Given the description of an element on the screen output the (x, y) to click on. 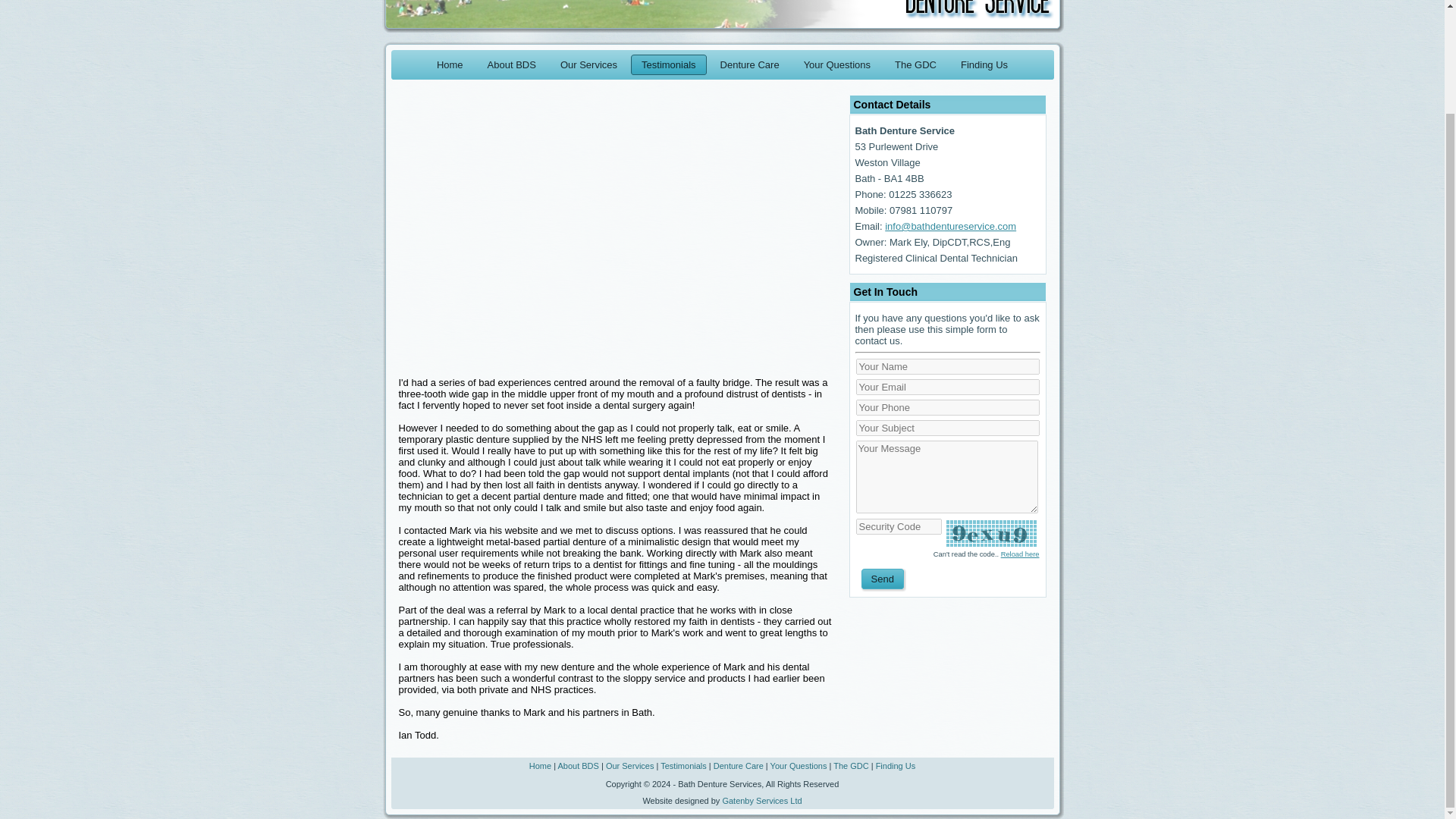
Denture Care (750, 64)
Gatenby Services Ltd (762, 800)
Home (450, 64)
Your Questions (836, 64)
The GDC (915, 64)
Reload here (1020, 553)
Send (882, 578)
Home (540, 765)
Your Questions (798, 765)
Testimonials (683, 765)
